Given the description of an element on the screen output the (x, y) to click on. 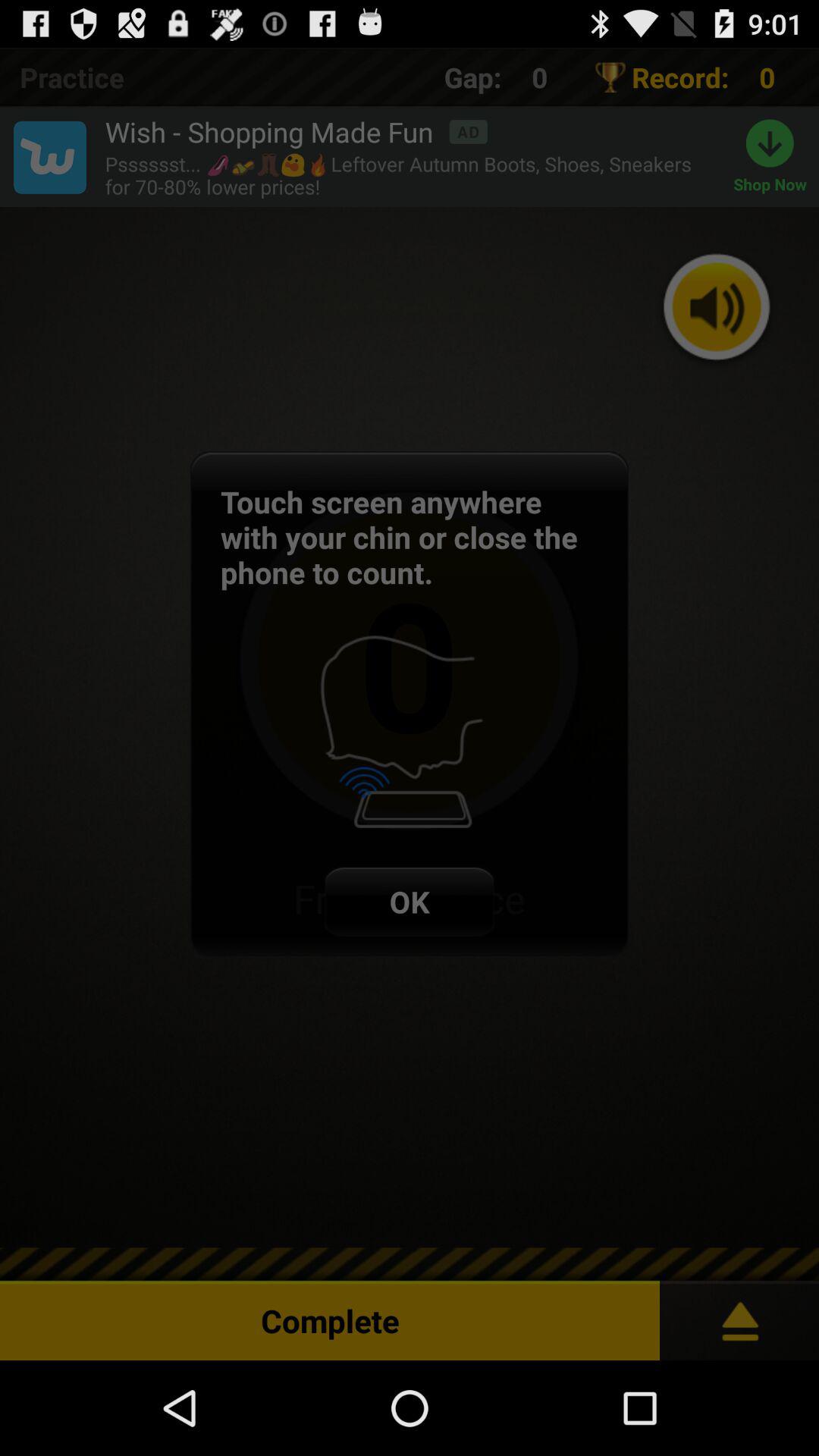
flip to ok (409, 901)
